Given the description of an element on the screen output the (x, y) to click on. 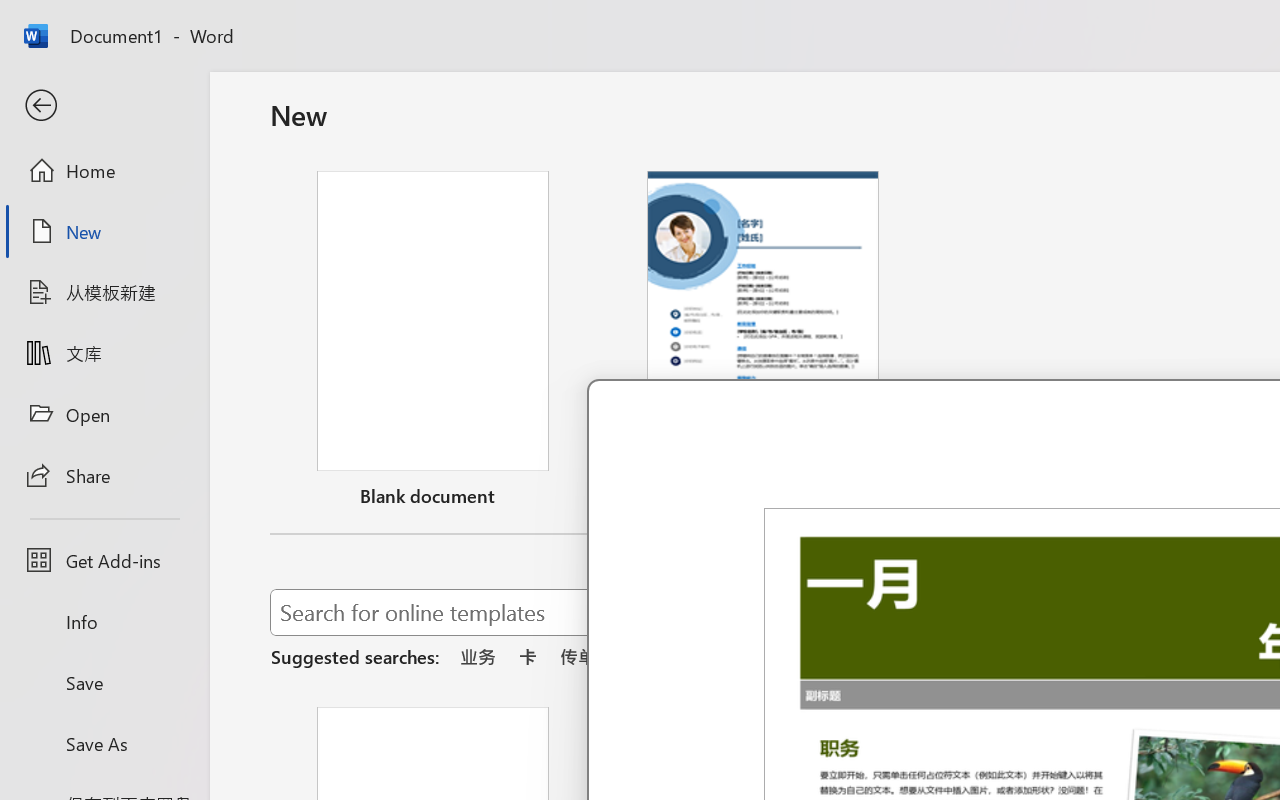
New (104, 231)
Get Add-ins (104, 560)
Save As (104, 743)
